Given the description of an element on the screen output the (x, y) to click on. 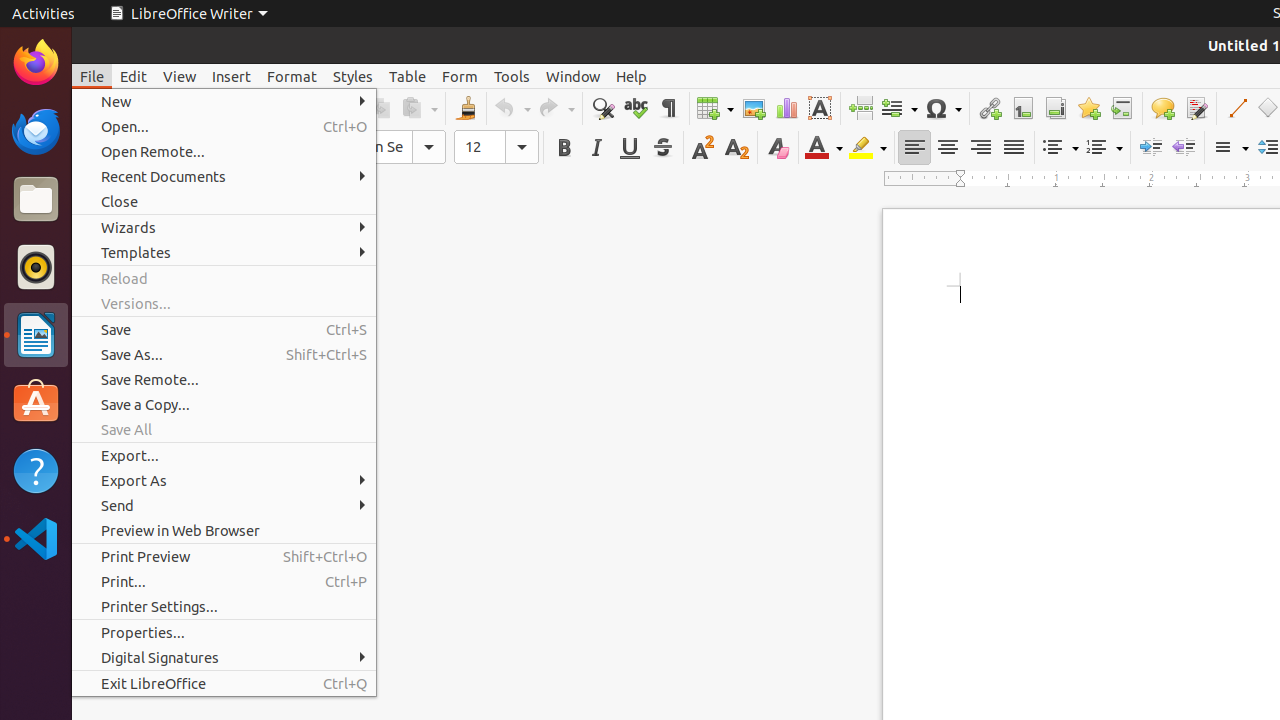
Font Color Element type: push-button (824, 147)
Tools Element type: menu (512, 76)
Versions... Element type: menu-item (224, 303)
Field Element type: push-button (899, 108)
